Given the description of an element on the screen output the (x, y) to click on. 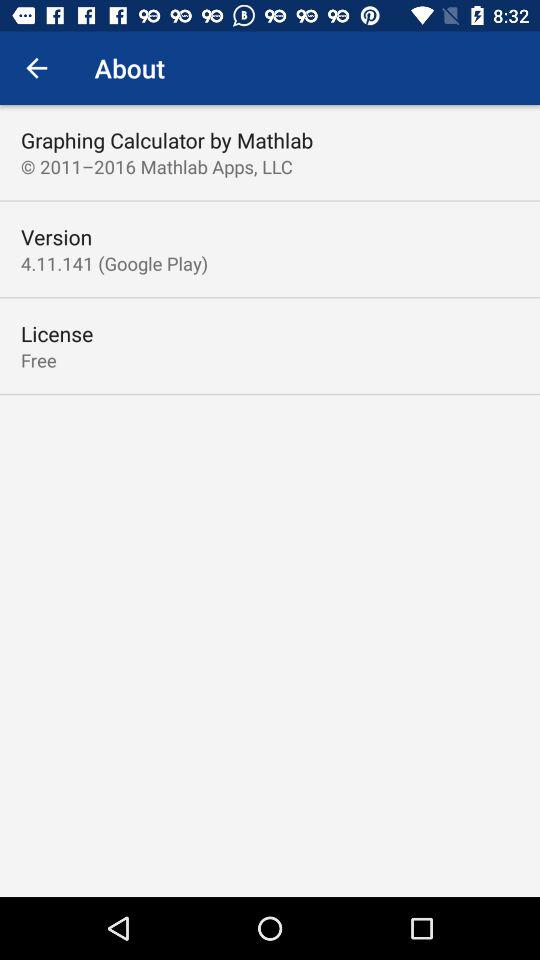
jump until the 2011 2016 mathlab item (156, 166)
